Given the description of an element on the screen output the (x, y) to click on. 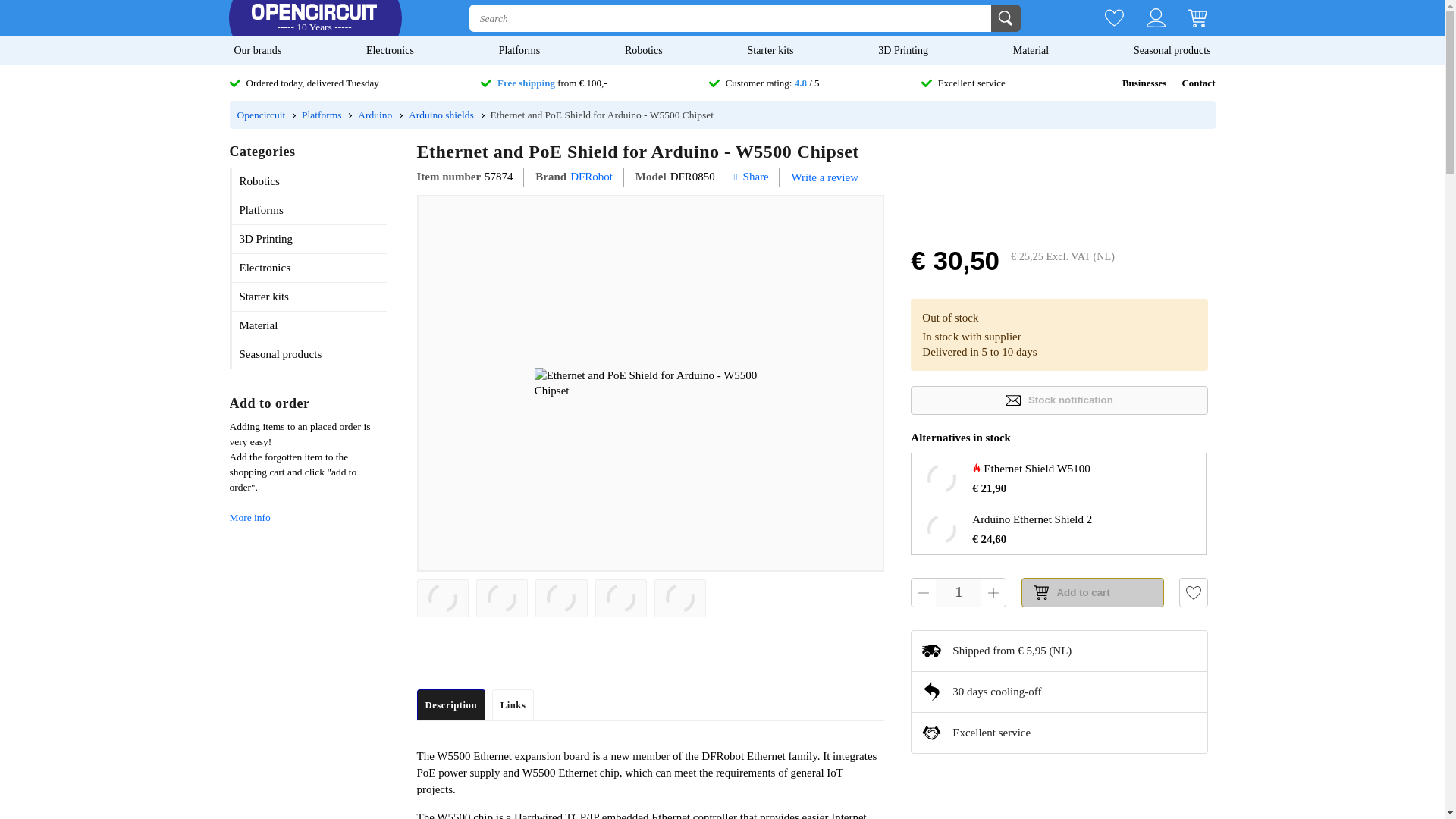
Opencircuit (313, 18)
Platforms (519, 50)
1 (958, 592)
Material (1030, 50)
Ethernet and PoE Shield for Arduino - W5500 Chipset (620, 597)
DFRobot (591, 176)
Ethernet and PoE Shield for Arduino - W5500 Chipset (502, 597)
Opencircuit (260, 114)
Starter kits (769, 50)
Robotics (643, 50)
